Given the description of an element on the screen output the (x, y) to click on. 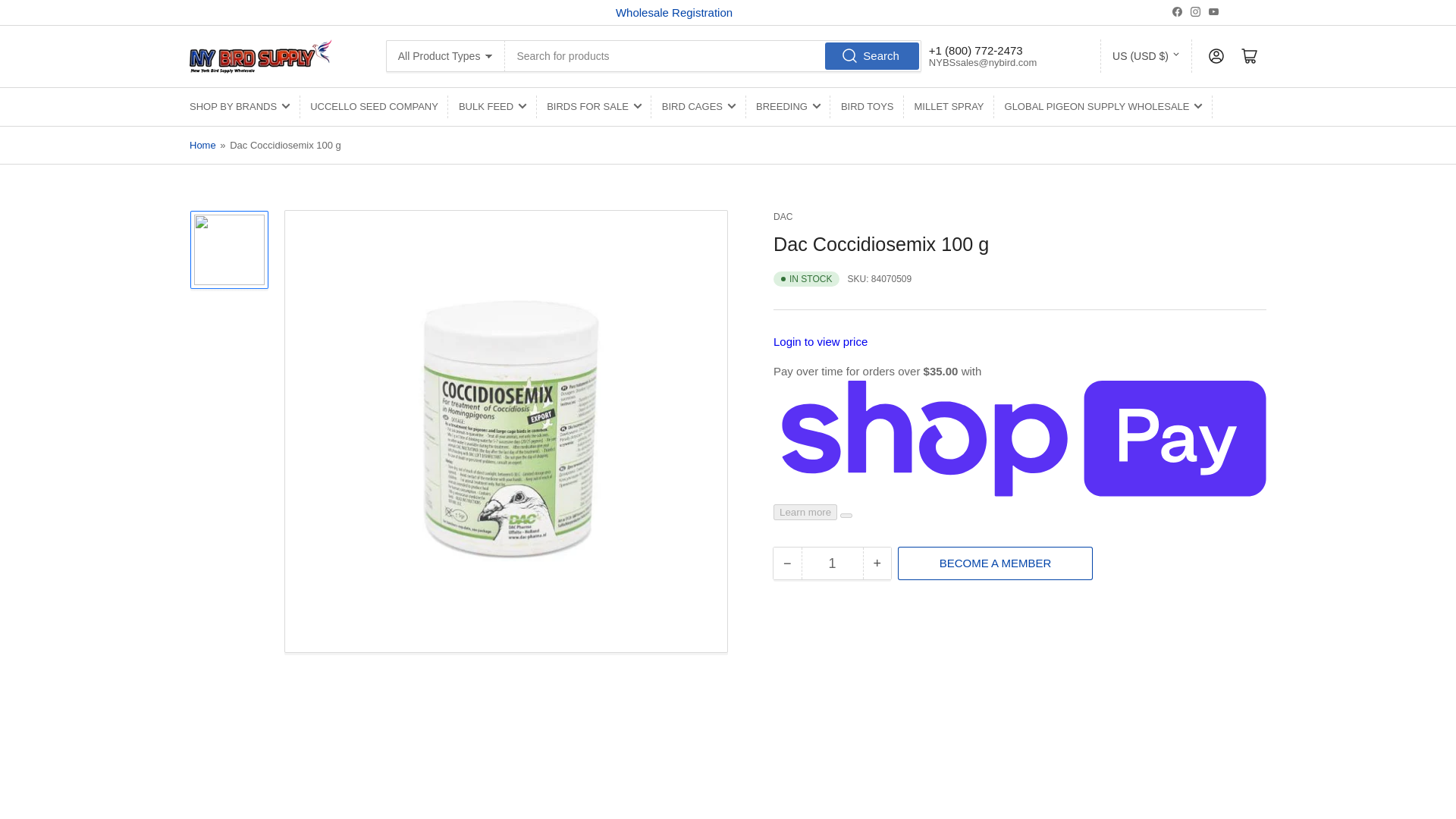
YouTube (1214, 11)
Search (871, 55)
Facebook (1177, 11)
Instagram (1195, 11)
1 (831, 563)
Wholesale Registration (673, 11)
